Given the description of an element on the screen output the (x, y) to click on. 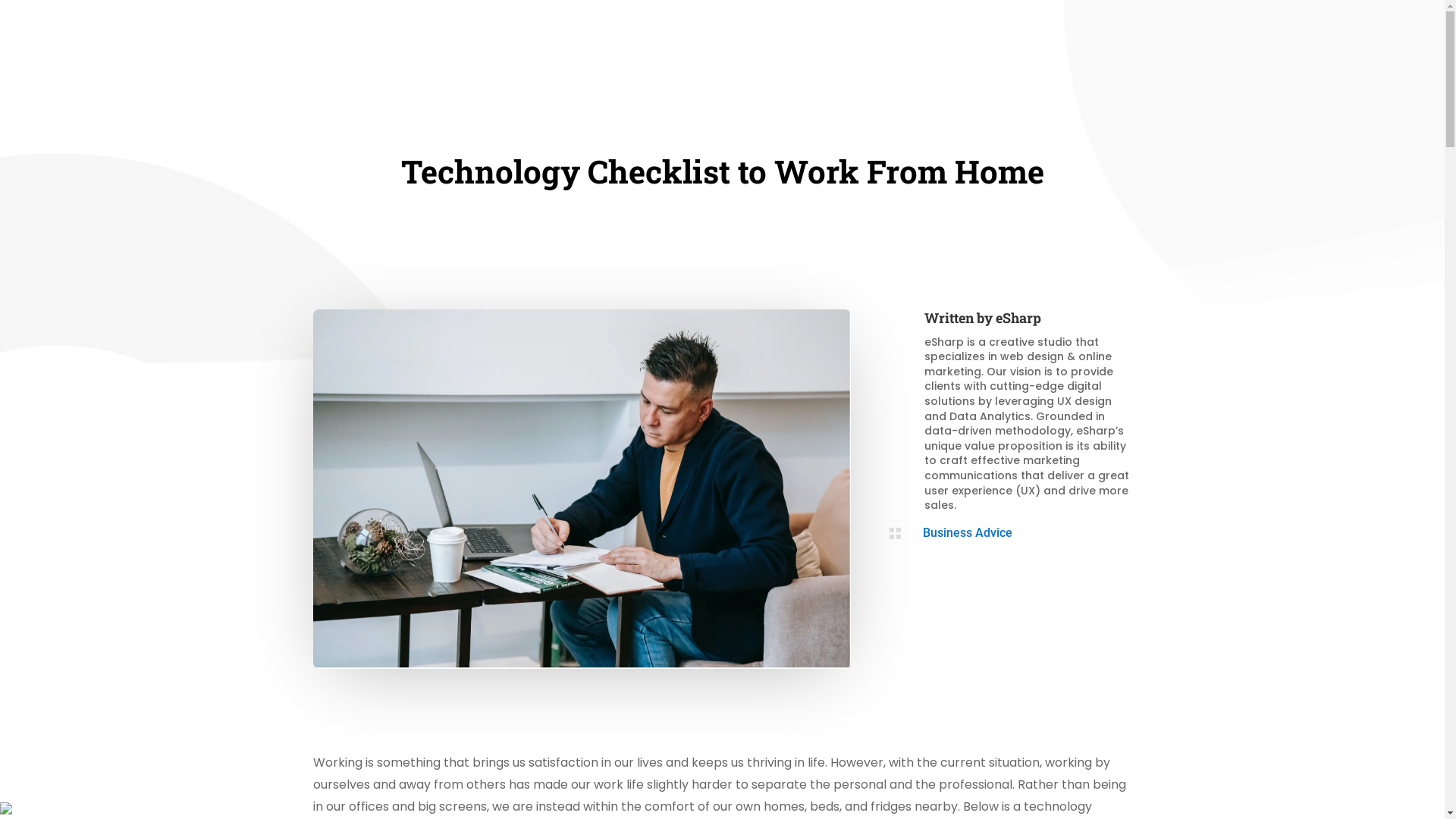
Picture 1 Element type: hover (581, 488)
Business Advice Element type: text (967, 532)
eSharp Element type: text (1018, 317)
